Given the description of an element on the screen output the (x, y) to click on. 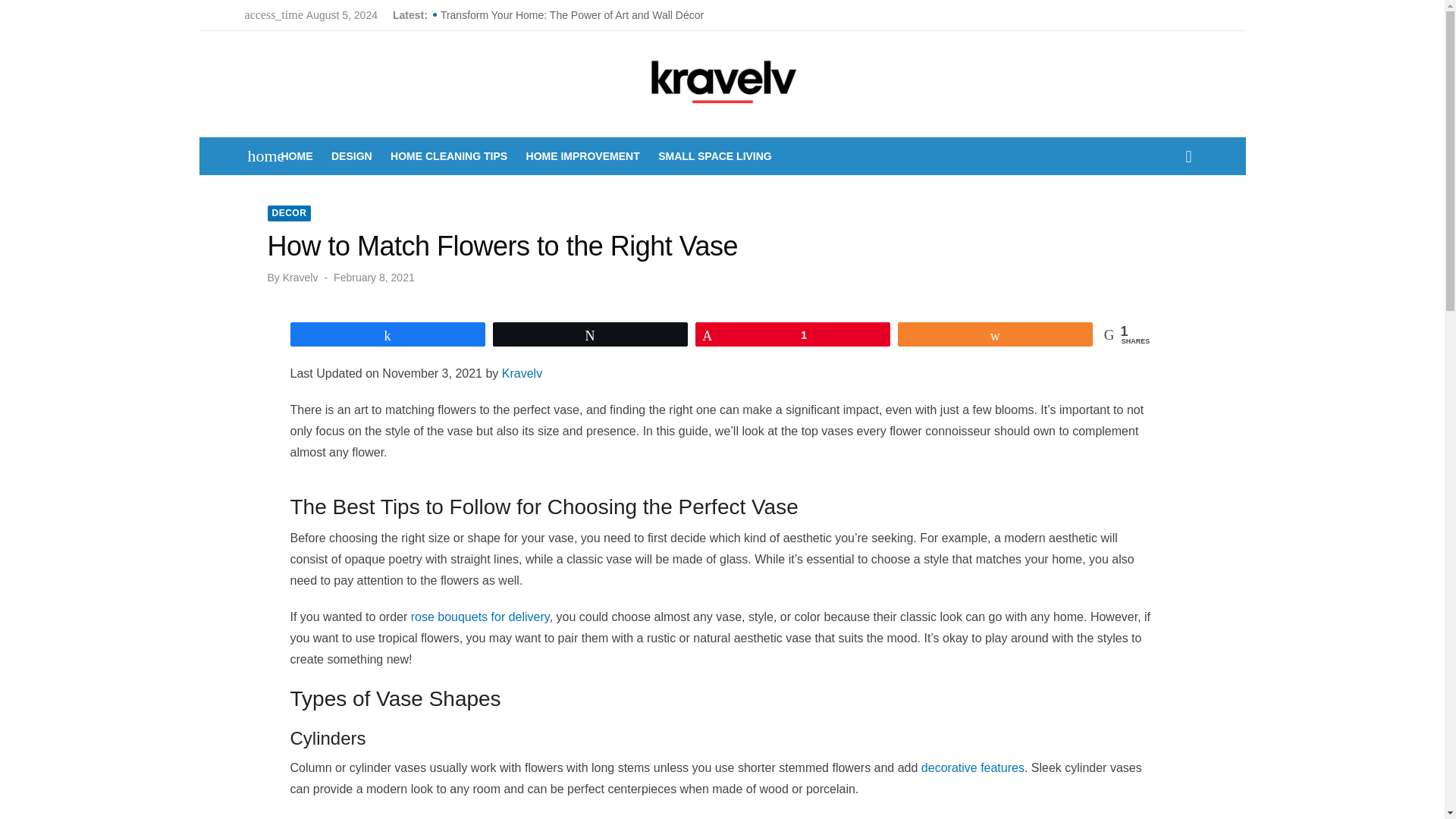
Home Improvement Tips (582, 156)
Kravelv (296, 156)
SMALL SPACE LIVING (714, 156)
February 8, 2021 (373, 277)
HOME CLEANING TIPS (449, 156)
DESIGN (352, 156)
1 (792, 333)
Small Space Living (714, 156)
Kravelv (300, 277)
HOME IMPROVEMENT (582, 156)
